Given the description of an element on the screen output the (x, y) to click on. 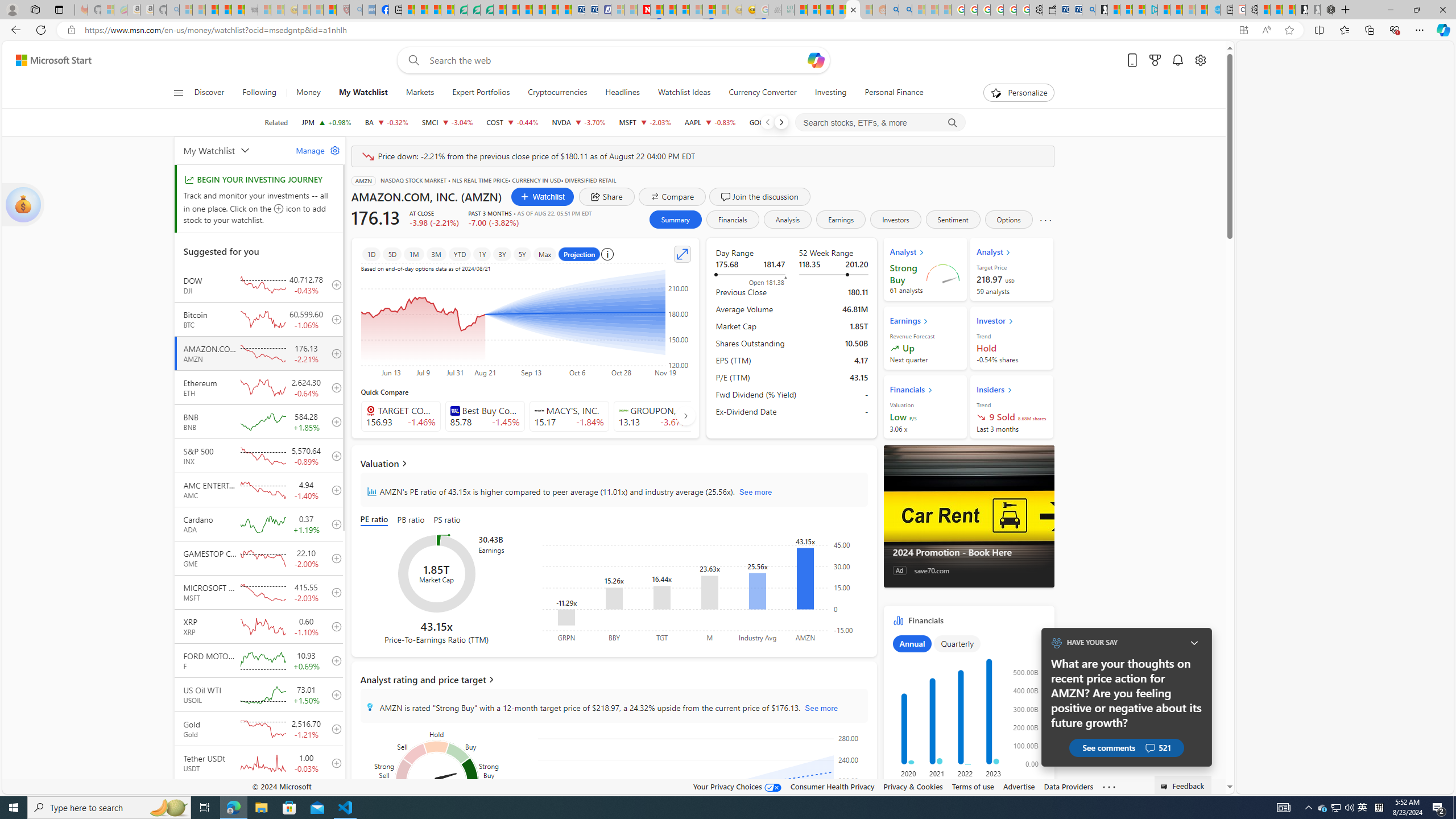
Quarterly (956, 643)
Watchlist Ideas (683, 92)
Markets (419, 92)
